Given the description of an element on the screen output the (x, y) to click on. 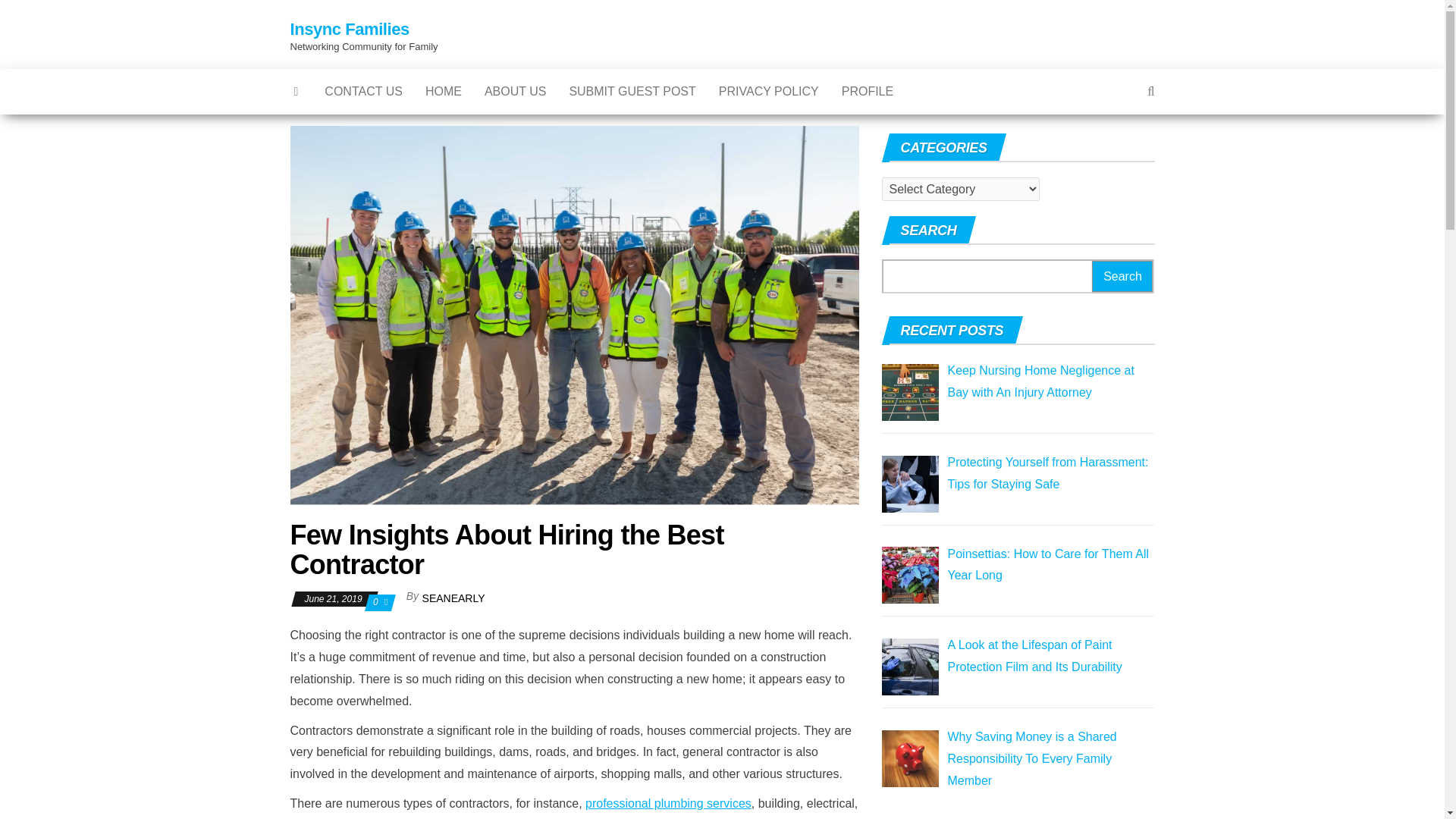
Home (443, 91)
ABOUT US (515, 91)
Insync Families (349, 28)
Profile (866, 91)
SUBMIT GUEST POST (631, 91)
HOME (443, 91)
PRIVACY POLICY (768, 91)
Contact Us (363, 91)
SEANEARLY (453, 598)
professional plumbing services (668, 802)
